Given the description of an element on the screen output the (x, y) to click on. 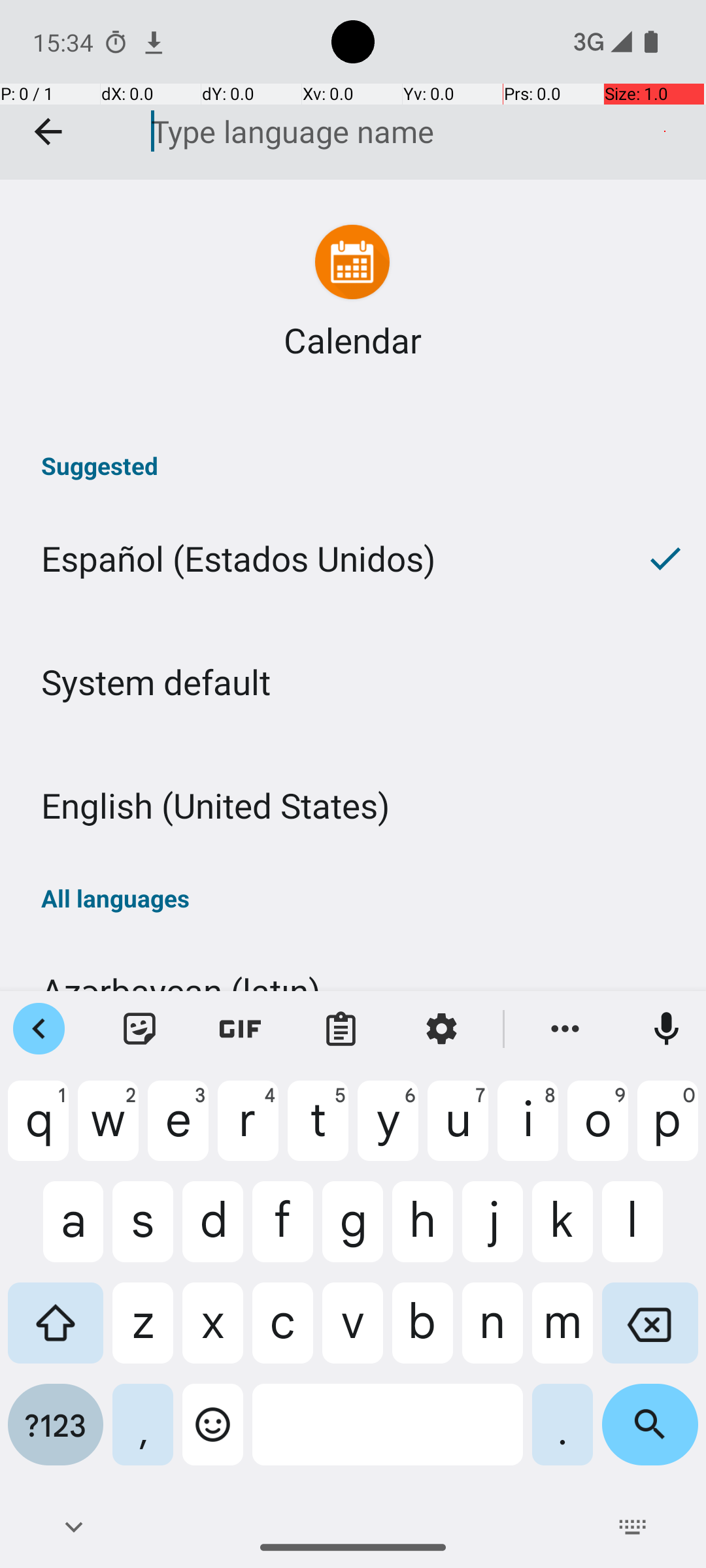
Type language name Element type: android.widget.AutoCompleteTextView (397, 130)
